Given the description of an element on the screen output the (x, y) to click on. 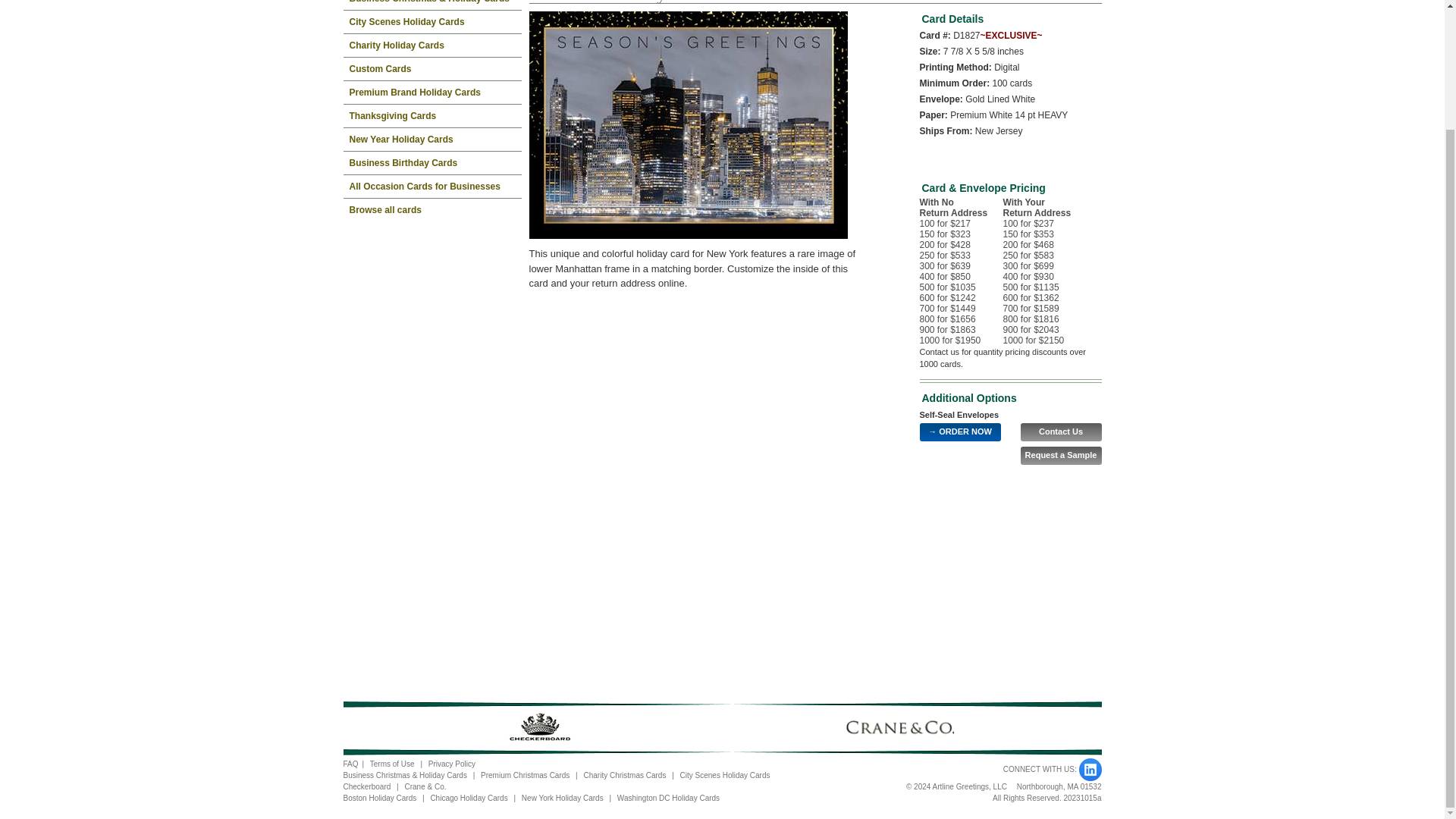
New Year Holiday Cards (431, 138)
Business Birthday Cards (431, 162)
City Scenes Holiday Cards (724, 775)
Terms of Use (391, 764)
Thanksgiving Cards (431, 115)
Self-Seal Envelopes (958, 414)
Checkerboard (366, 786)
Contact Us (1061, 432)
Premium Brand Holiday Cards (431, 92)
Charity Holiday Cards (431, 45)
Charity Christmas Cards (624, 775)
Custom Cards (431, 68)
Premium Christmas Cards (524, 775)
Manhattan (688, 125)
Privacy Policy (452, 764)
